Given the description of an element on the screen output the (x, y) to click on. 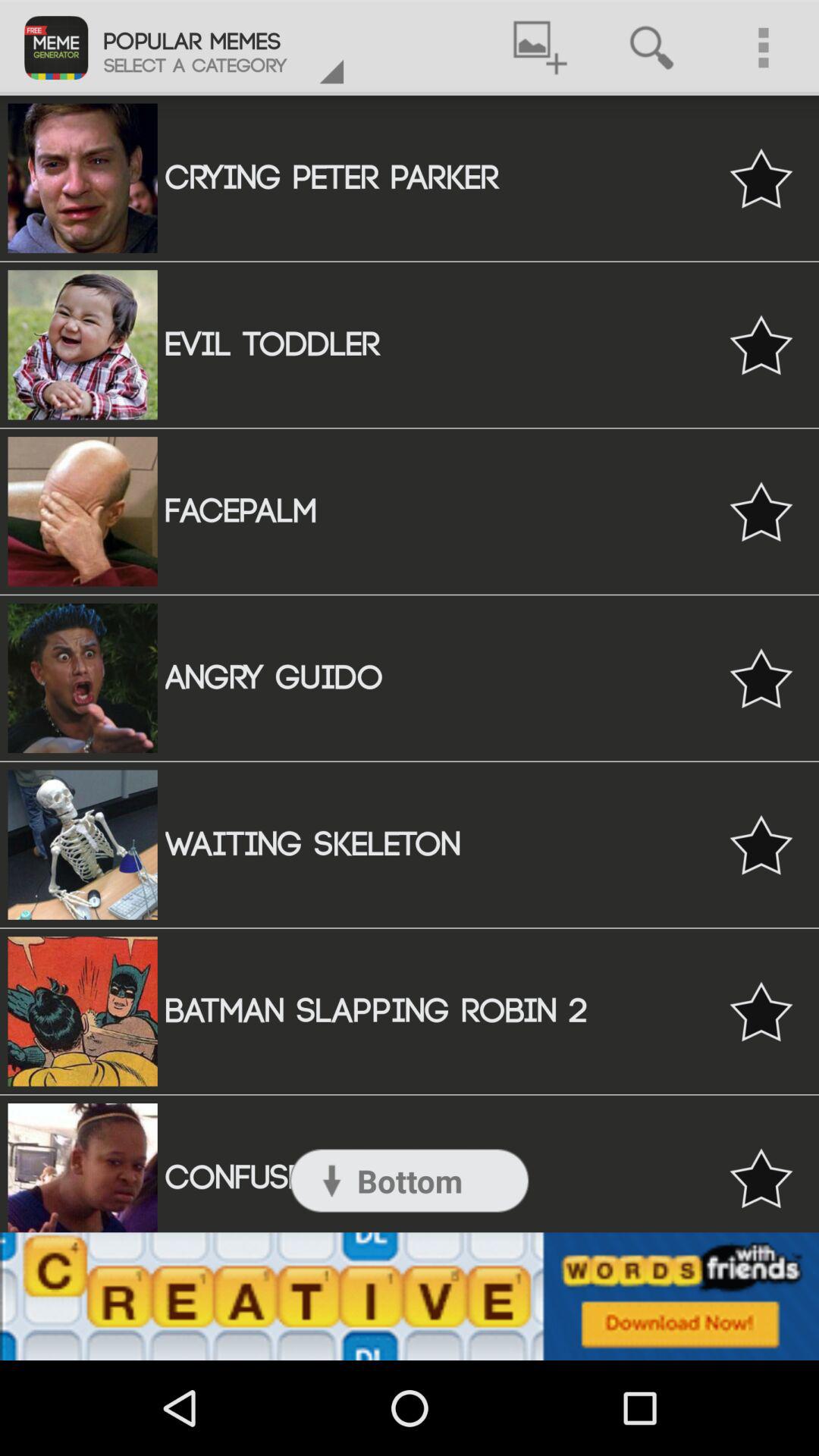
add to favorites (761, 844)
